Given the description of an element on the screen output the (x, y) to click on. 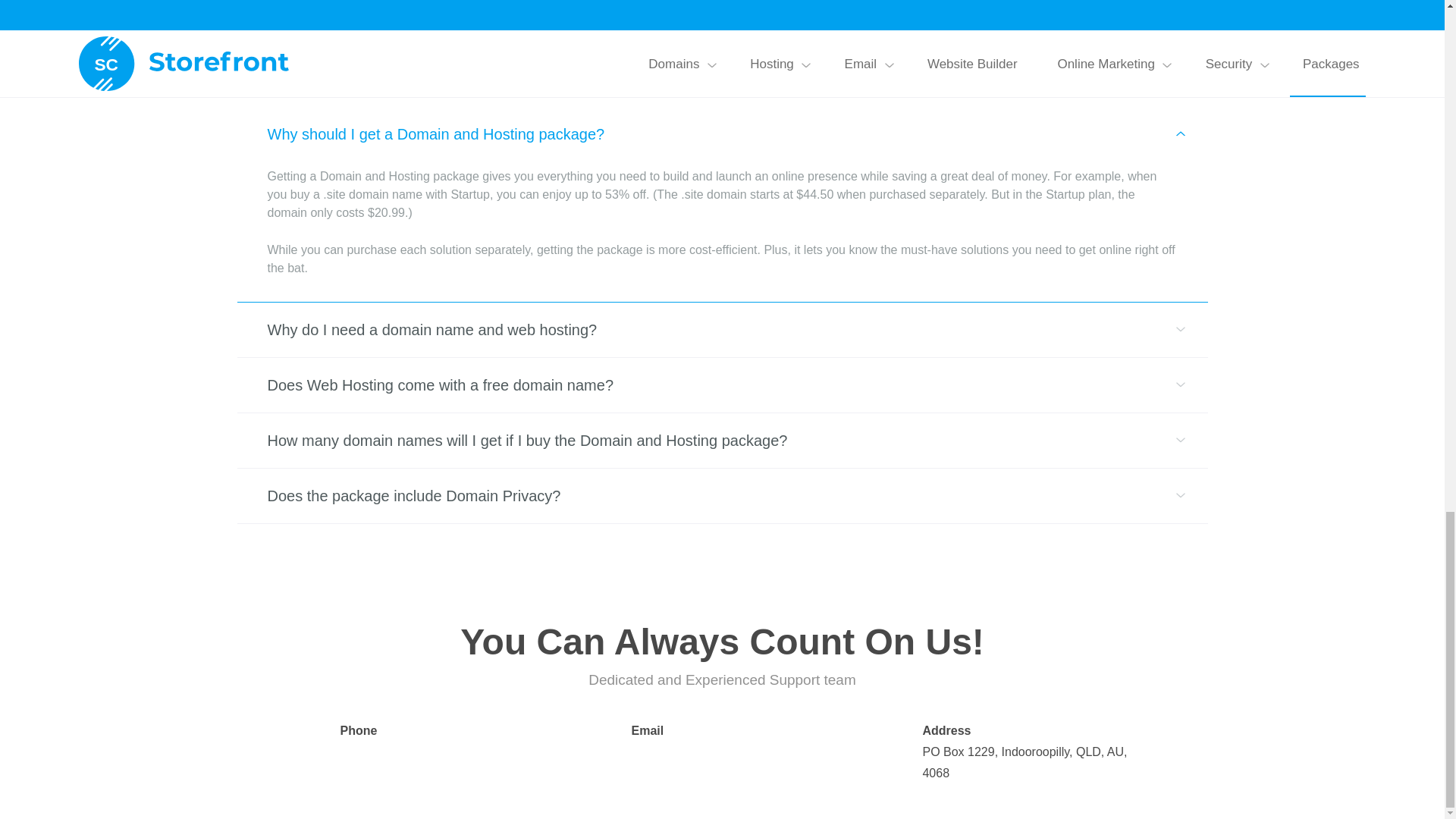
Phone (431, 741)
Email (722, 741)
